Given the description of an element on the screen output the (x, y) to click on. 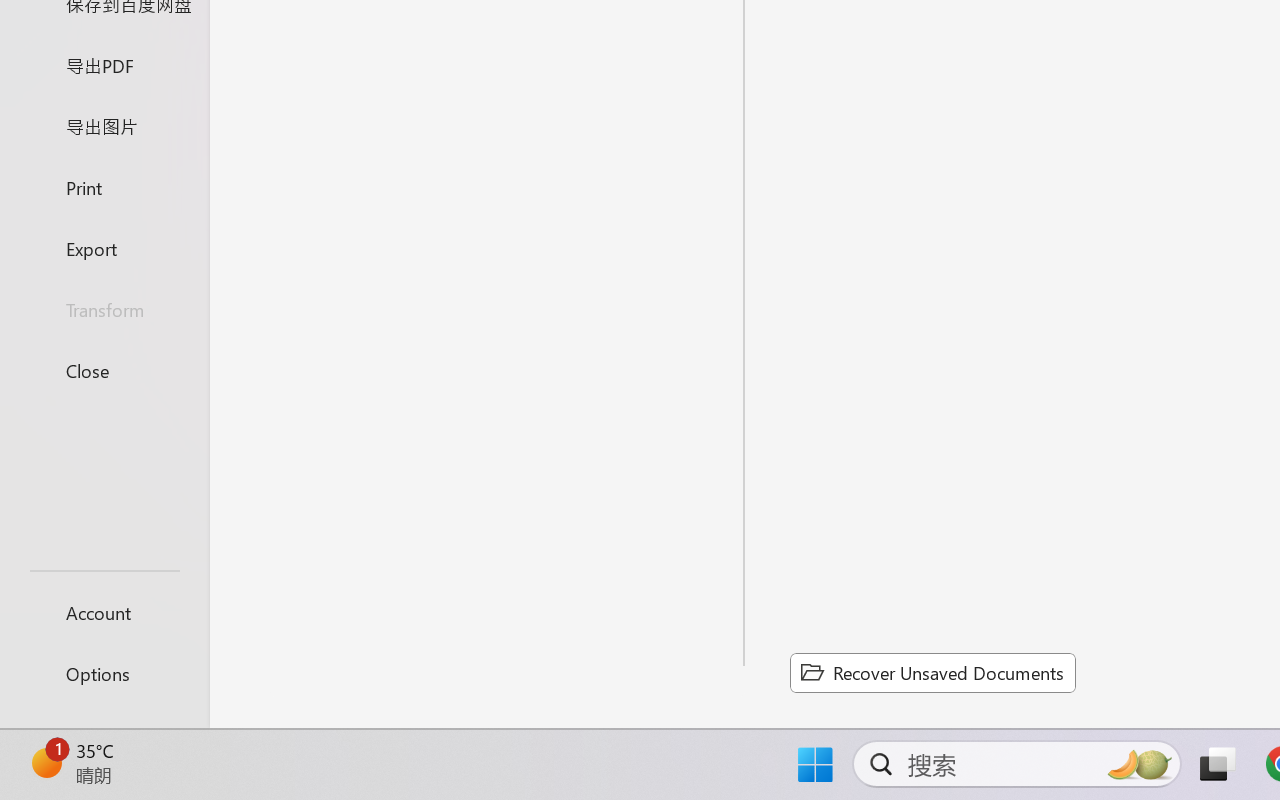
Recover Unsaved Documents (932, 672)
Transform (104, 309)
Export (104, 248)
Print (104, 186)
Account (104, 612)
Options (104, 673)
